Given the description of an element on the screen output the (x, y) to click on. 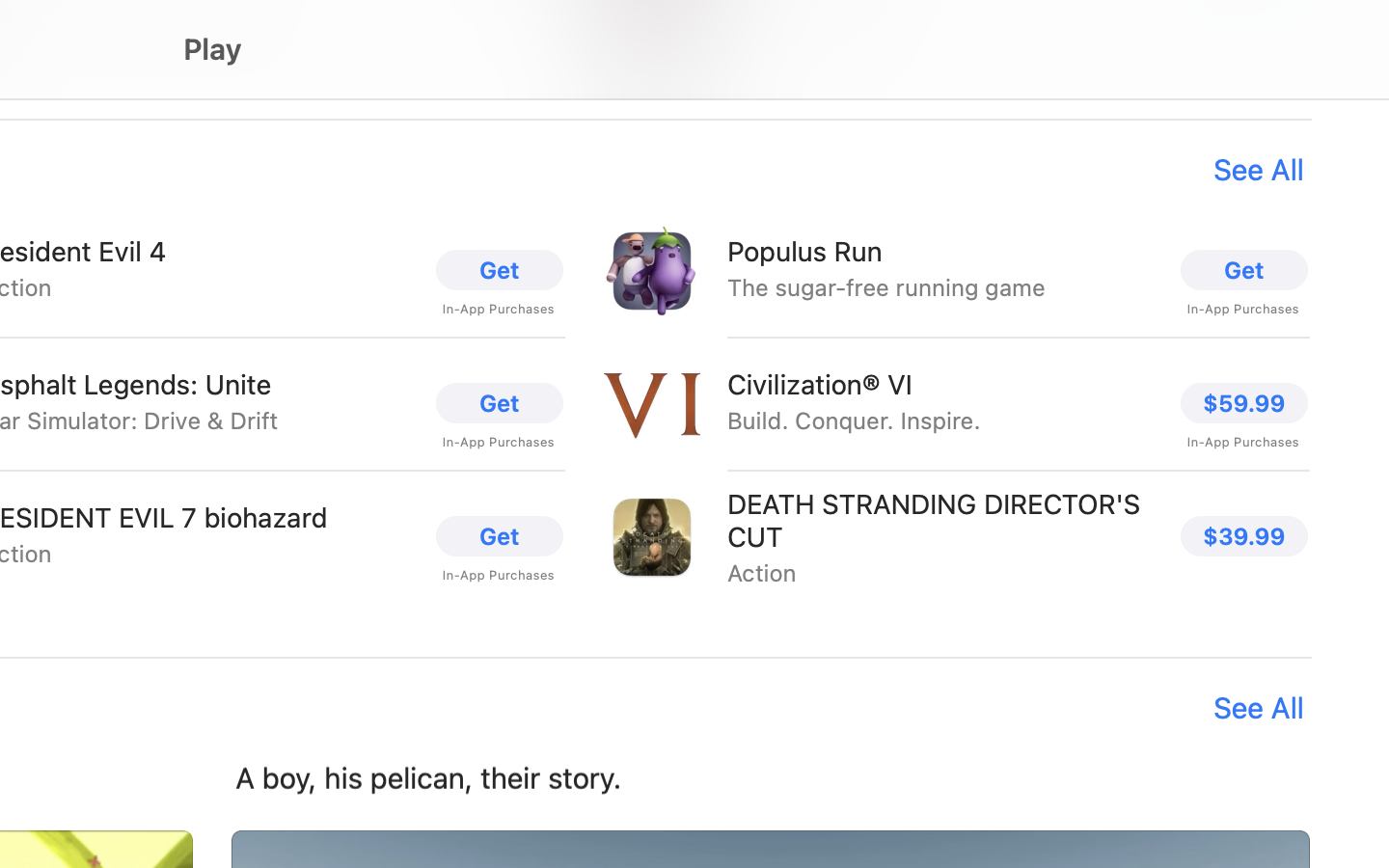
Play Element type: AXStaticText (212, 48)
